Given the description of an element on the screen output the (x, y) to click on. 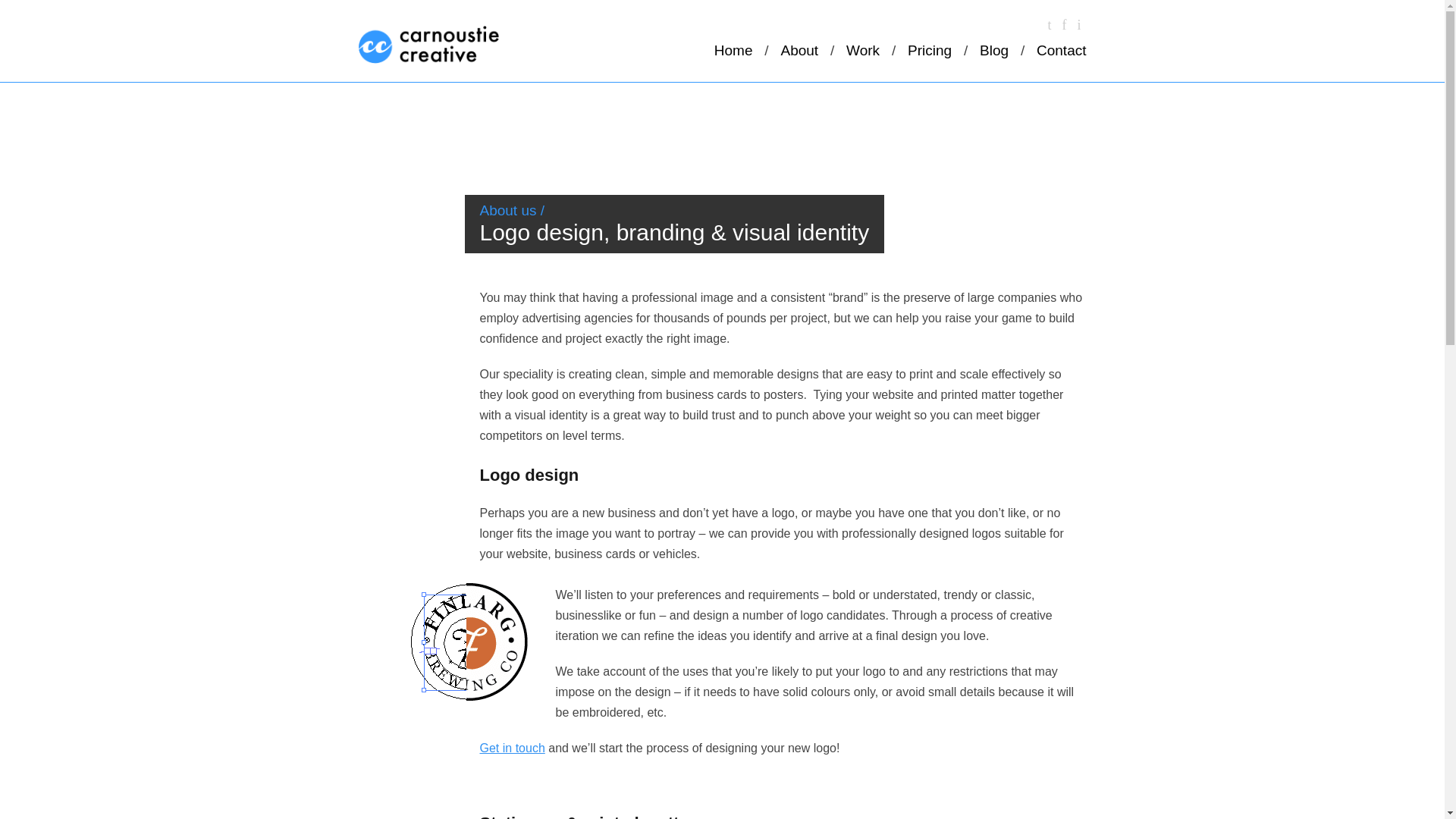
Home (733, 50)
About us (507, 210)
Blog (994, 50)
Get in touch (511, 748)
Pricing (929, 50)
Contact (1061, 50)
Work (862, 50)
About (799, 50)
